Given the description of an element on the screen output the (x, y) to click on. 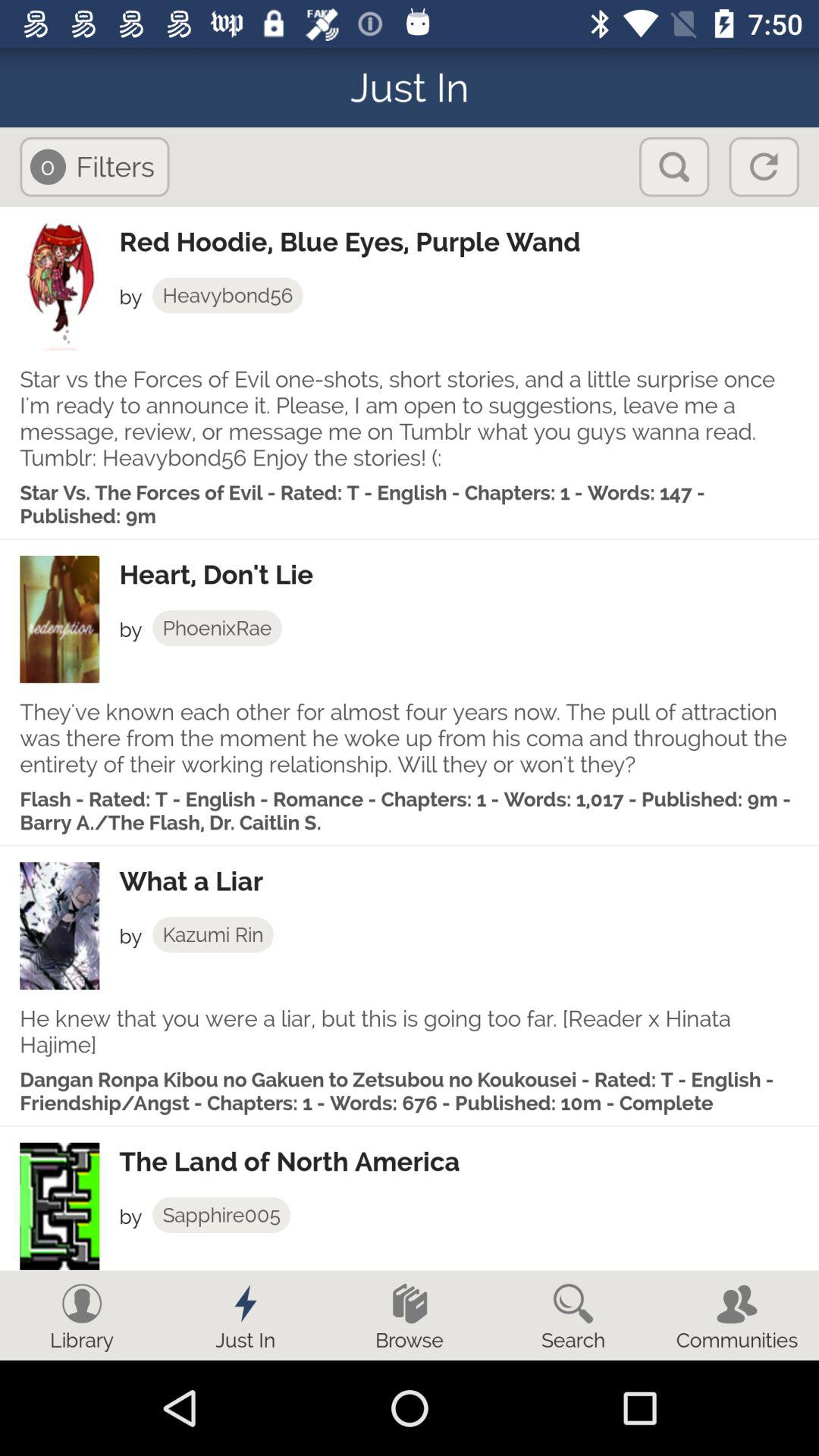
swipe until the red hoodie blue (469, 241)
